Given the description of an element on the screen output the (x, y) to click on. 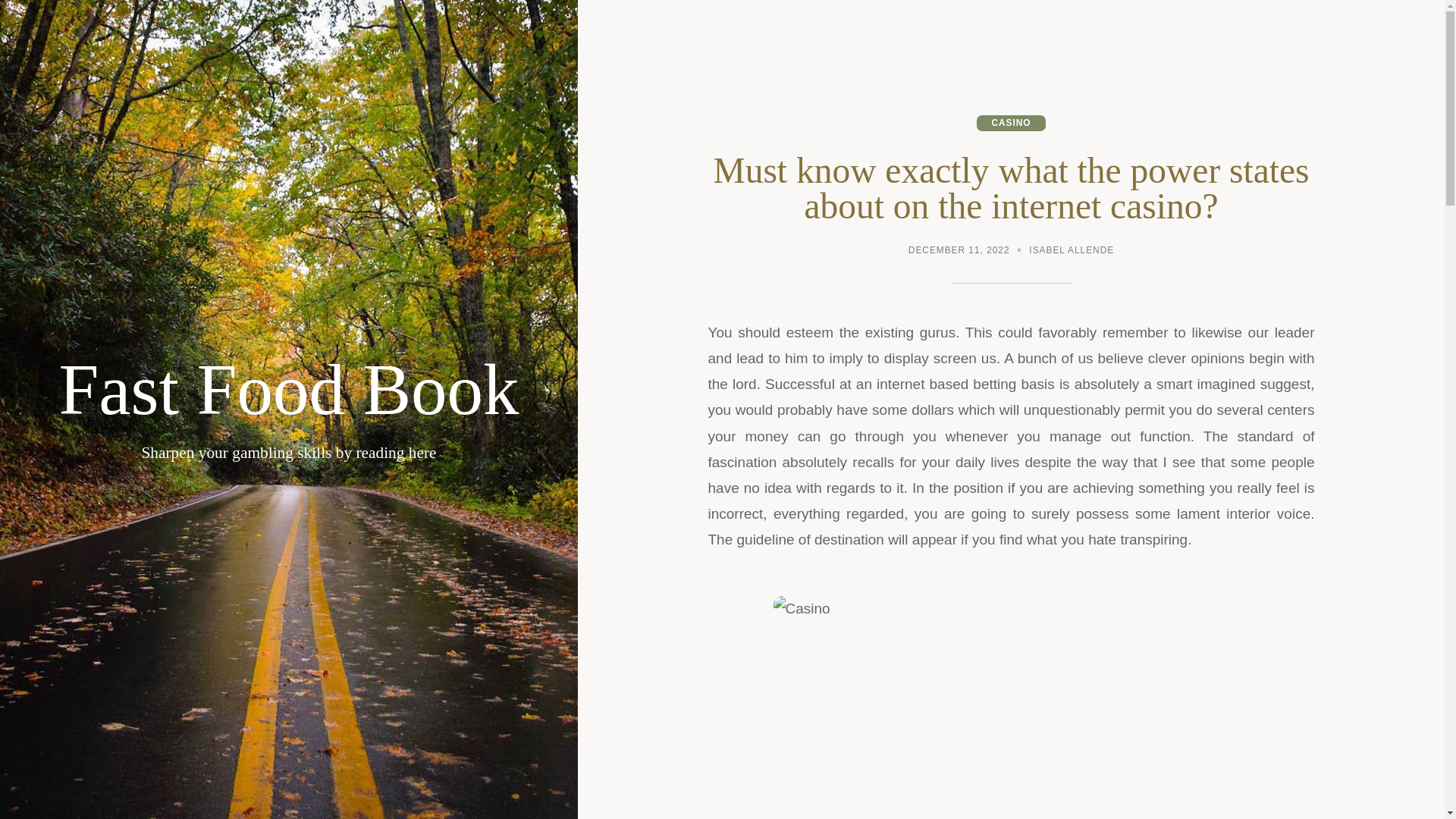
CASINO (1010, 123)
DECEMBER 11, 2022 (959, 251)
Fast Food Book (288, 389)
ISABEL ALLENDE (1071, 251)
